Given the description of an element on the screen output the (x, y) to click on. 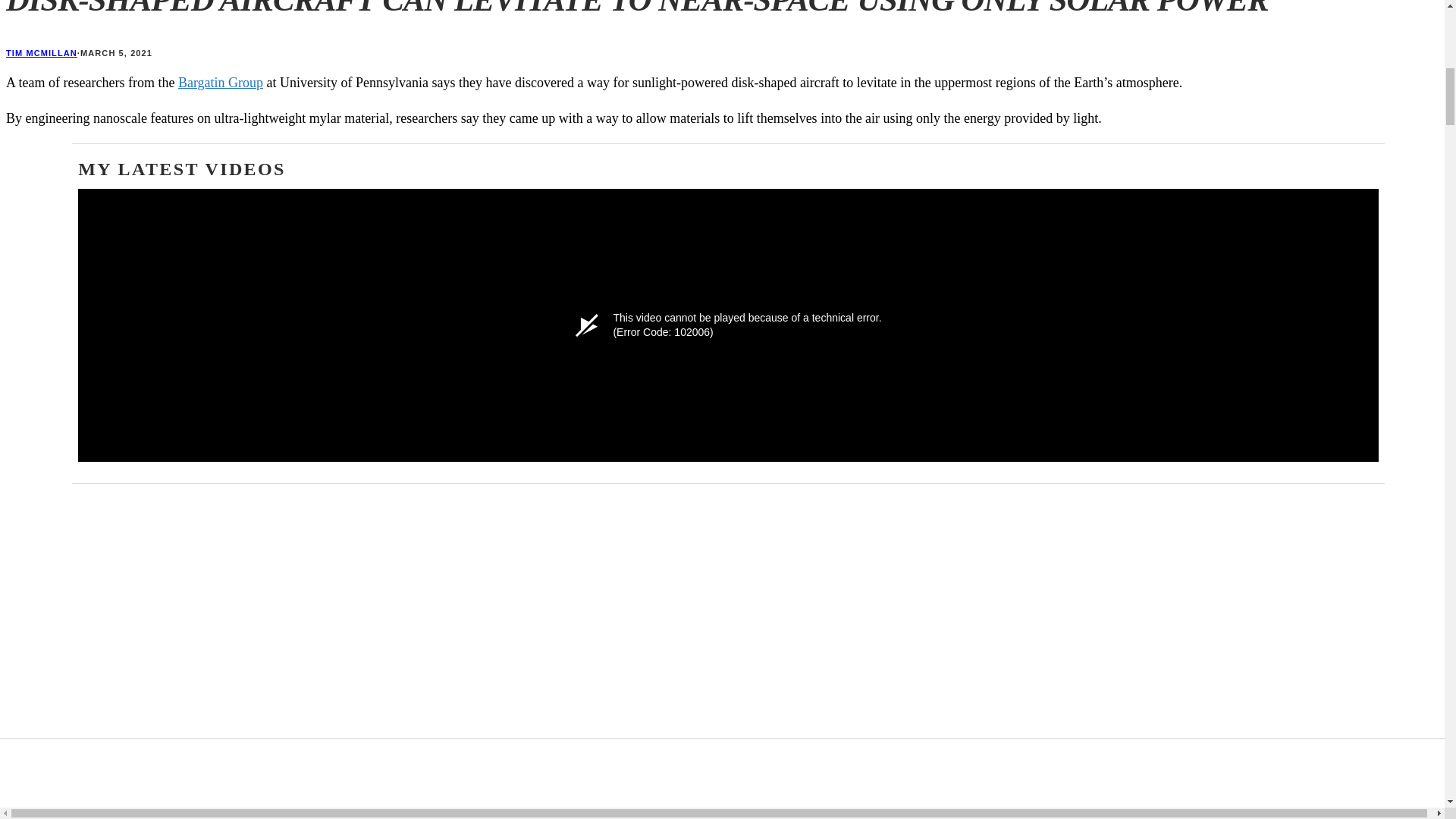
Bargatin Group (220, 82)
TIM MCMILLAN (41, 52)
